Given the description of an element on the screen output the (x, y) to click on. 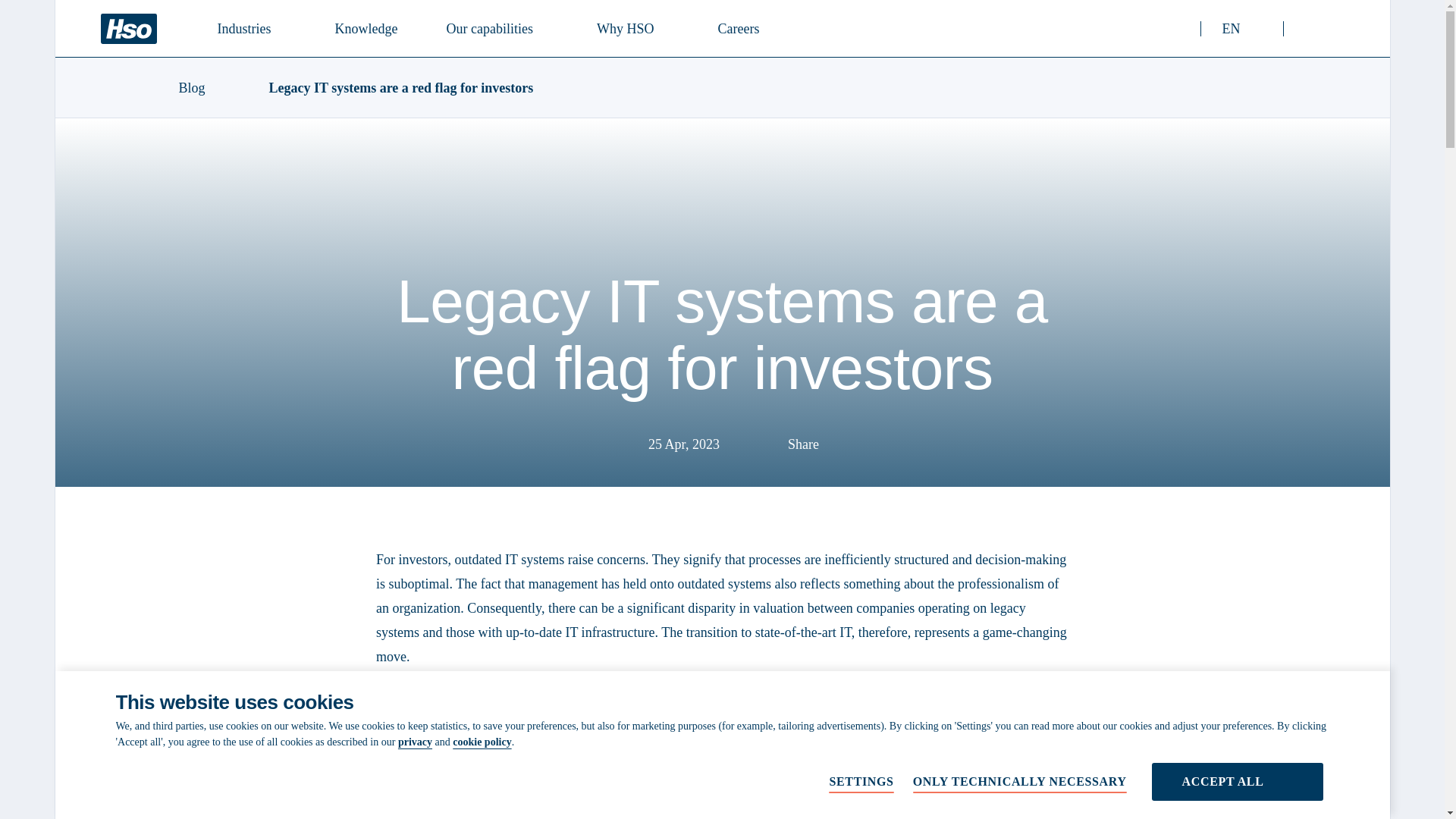
Cookie Policy (481, 741)
Privacy Policy (414, 741)
Industries (495, 27)
Logo (251, 27)
